Given the description of an element on the screen output the (x, y) to click on. 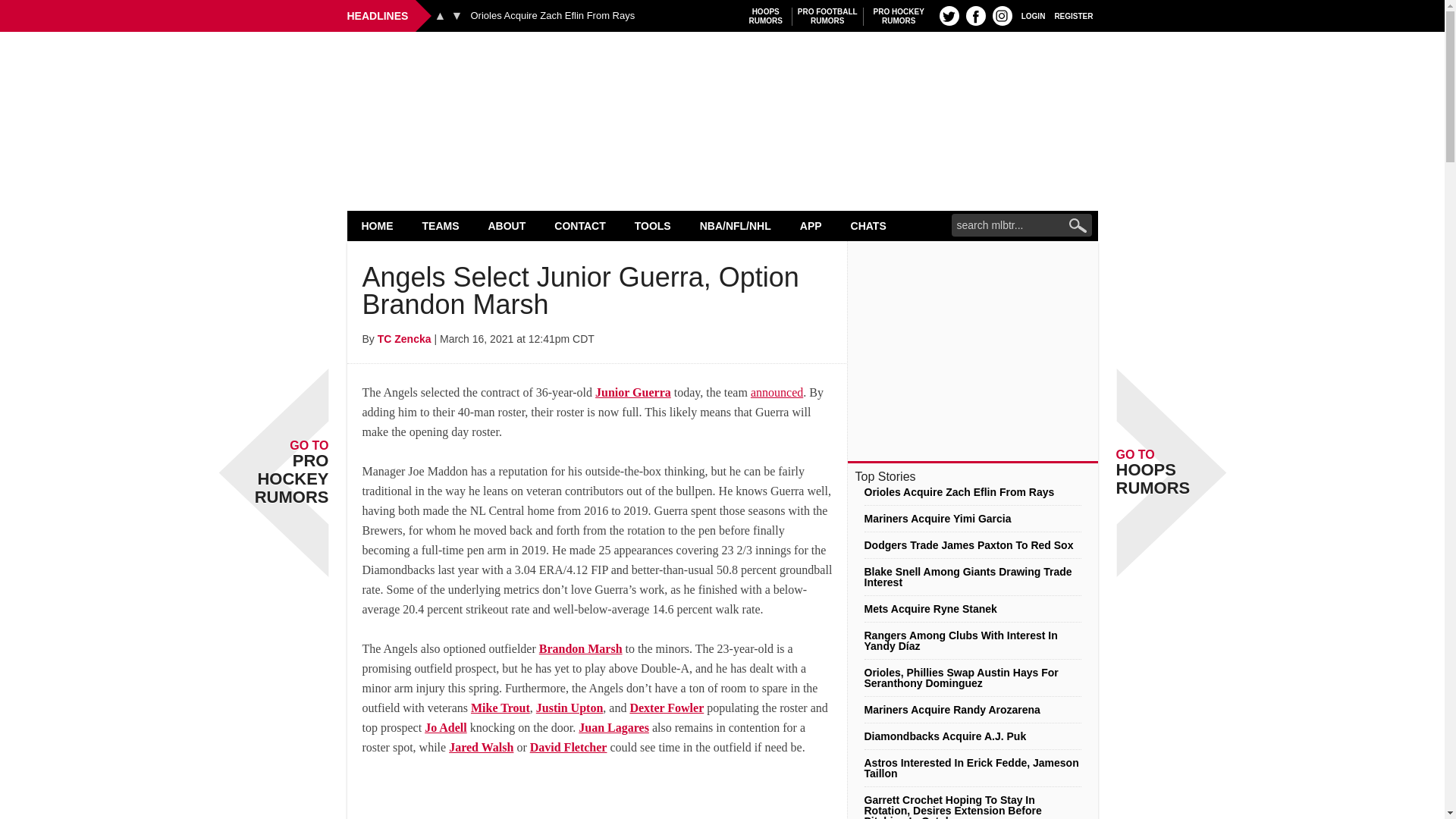
LOGIN (1032, 15)
MLB Trade Rumors (722, 69)
TEAMS (440, 225)
Orioles Acquire Zach Eflin From Rays (765, 16)
Search (552, 15)
HOME (456, 15)
Previous (377, 225)
Twitter profile (439, 15)
Instagram profile (949, 15)
FB profile (1001, 15)
REGISTER (975, 15)
